Given the description of an element on the screen output the (x, y) to click on. 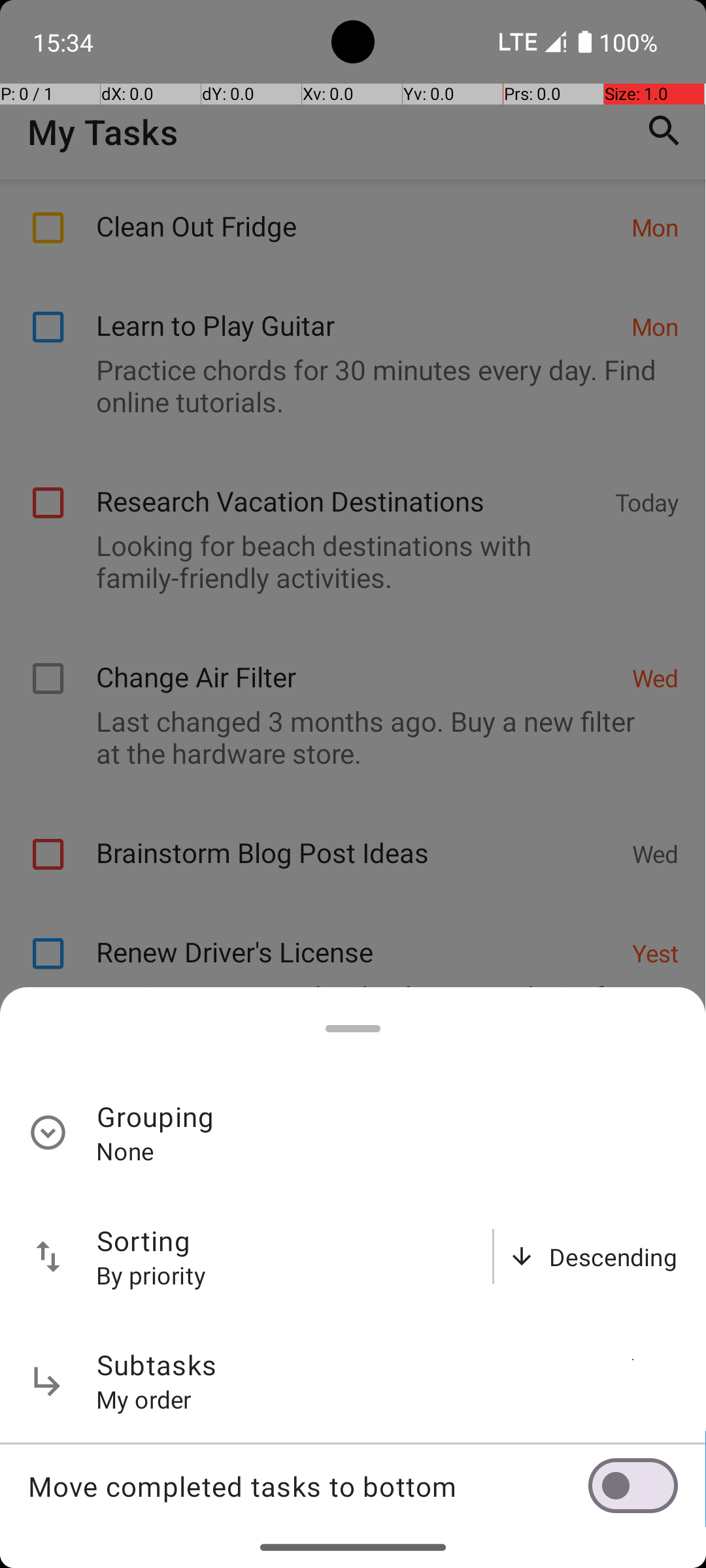
Grouping Element type: android.widget.TextView (155, 1115)
Sorting Element type: android.widget.TextView (143, 1239)
By priority Element type: android.widget.TextView (151, 1274)
My order Element type: android.widget.TextView (144, 1399)
Move completed tasks to bottom Element type: android.widget.TextView (307, 1485)
Descending Element type: android.widget.TextView (613, 1256)
